Given the description of an element on the screen output the (x, y) to click on. 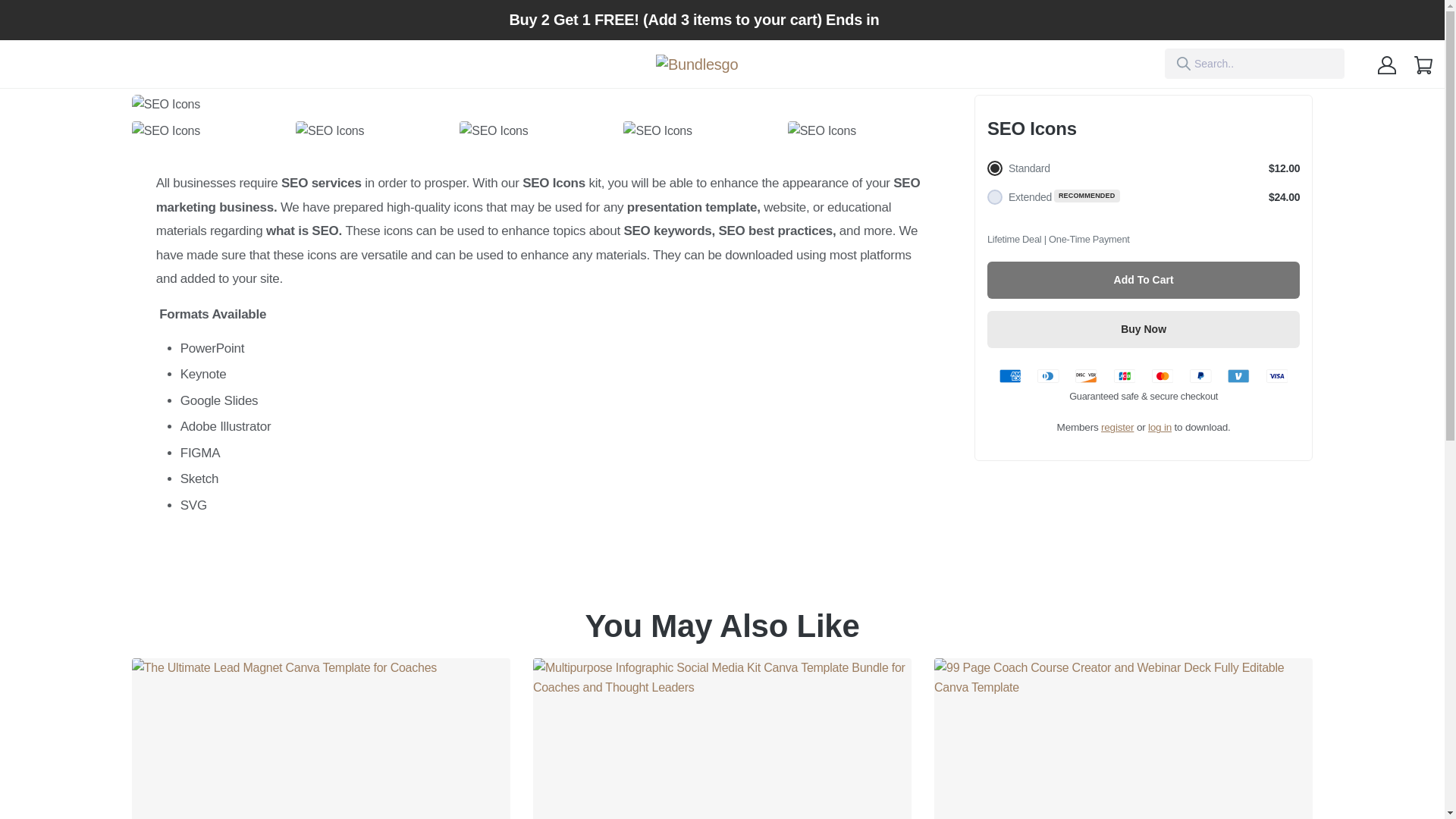
Venmo (1238, 376)
American Express (1009, 376)
register (1117, 427)
Buy Now (1143, 329)
log in (1160, 427)
Mastercard (1162, 376)
Discover (1085, 376)
Add To Cart (1143, 279)
JCB (1124, 376)
View The Ultimate Lead Magnet Canva Template for Coaches (321, 738)
